Given the description of an element on the screen output the (x, y) to click on. 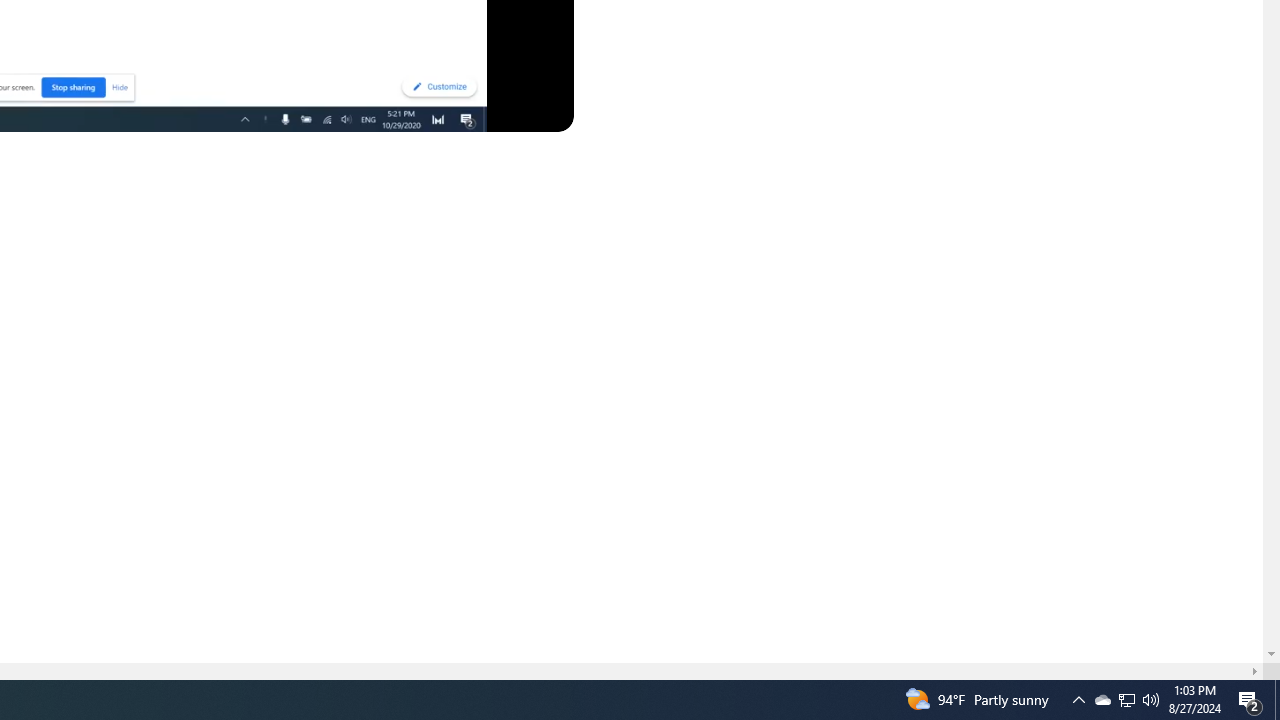
Full screen (f) (540, 111)
Subtitles/closed captions unavailable (393, 111)
Watch on YouTube (488, 111)
